Given the description of an element on the screen output the (x, y) to click on. 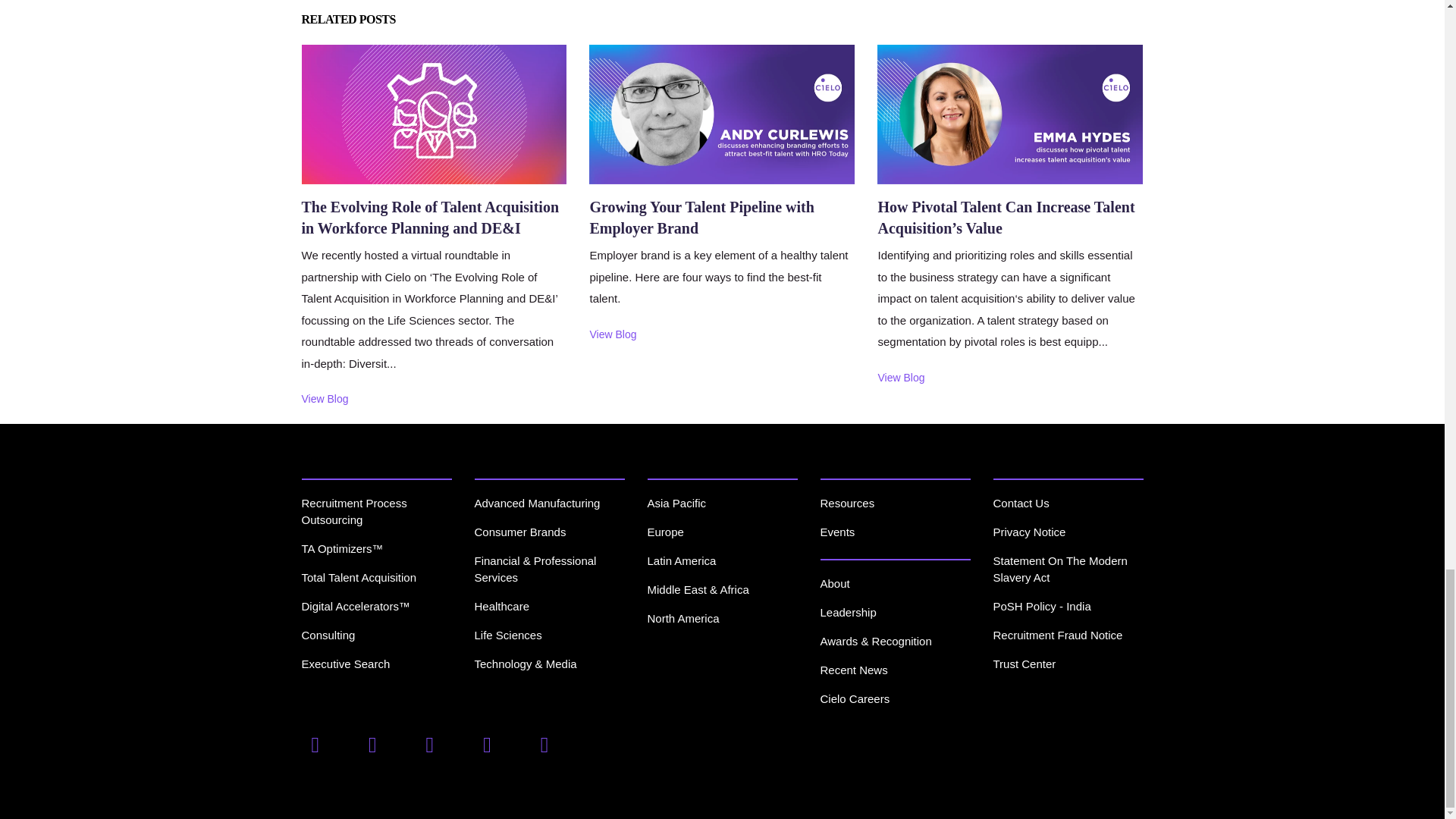
Growing Your Talent Pipeline with Employer Brand (701, 231)
YouTube (547, 743)
LinkedIn (433, 743)
Healthcare (501, 605)
Total Talent Acquisition (358, 576)
Consumer Brands (520, 531)
View Blog (325, 402)
YouTube (490, 743)
View Blog (612, 337)
Recruitment Process Outsourcing (354, 511)
Life Sciences (507, 634)
Asia Pacific (676, 502)
View Blog (900, 380)
Twitter (375, 743)
Facebook (317, 743)
